Given the description of an element on the screen output the (x, y) to click on. 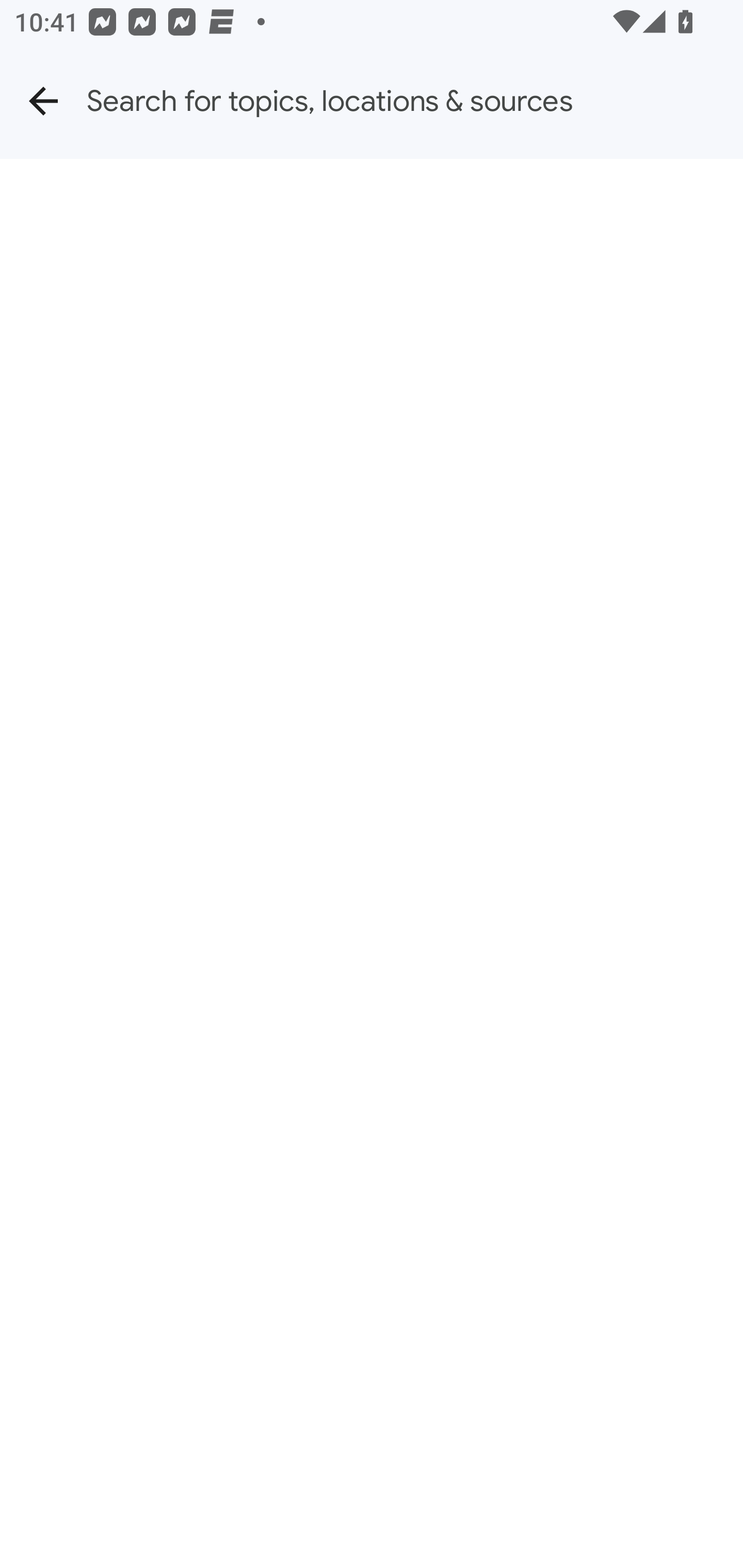
Back (43, 101)
Search for topics, locations & sources (414, 101)
